Given the description of an element on the screen output the (x, y) to click on. 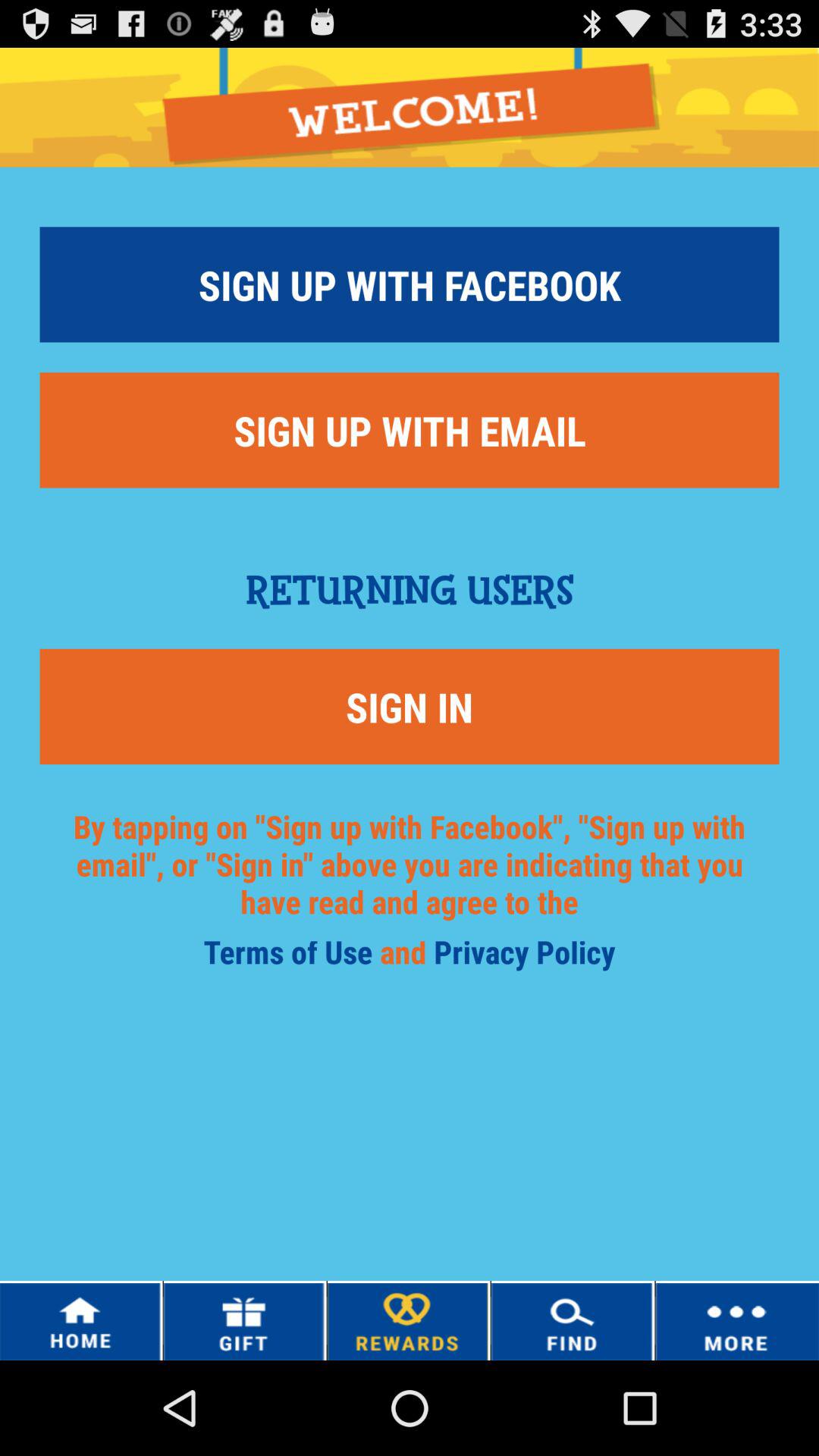
swipe until the terms of use  icon (291, 957)
